Given the description of an element on the screen output the (x, y) to click on. 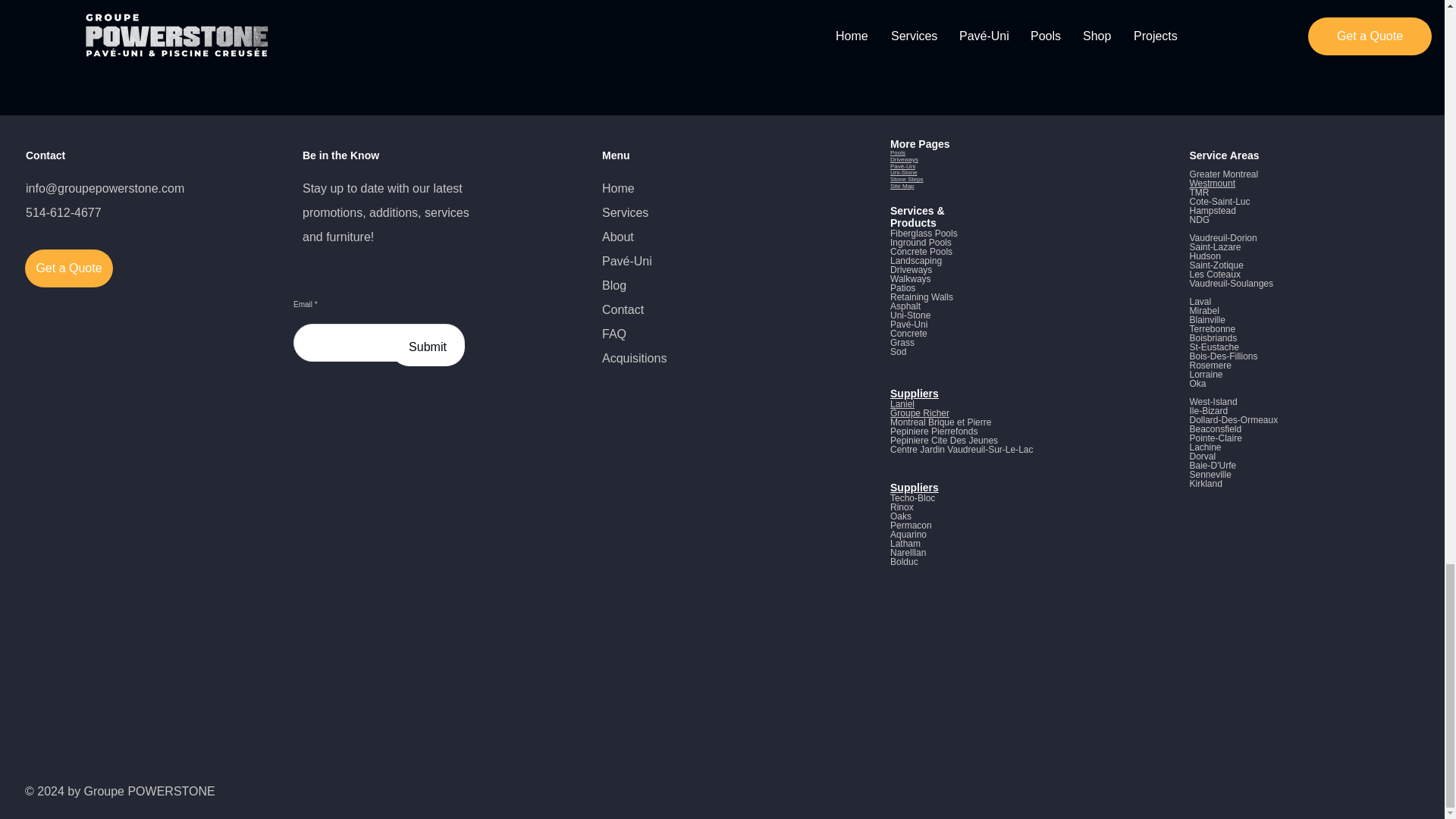
Services (624, 212)
Home (618, 187)
Contact (622, 309)
Blog (614, 285)
Driveways (903, 159)
Get a Quote (68, 268)
Pools (897, 152)
Acquisitions (634, 358)
FAQ (614, 333)
About (617, 236)
Submit (427, 347)
